Given the description of an element on the screen output the (x, y) to click on. 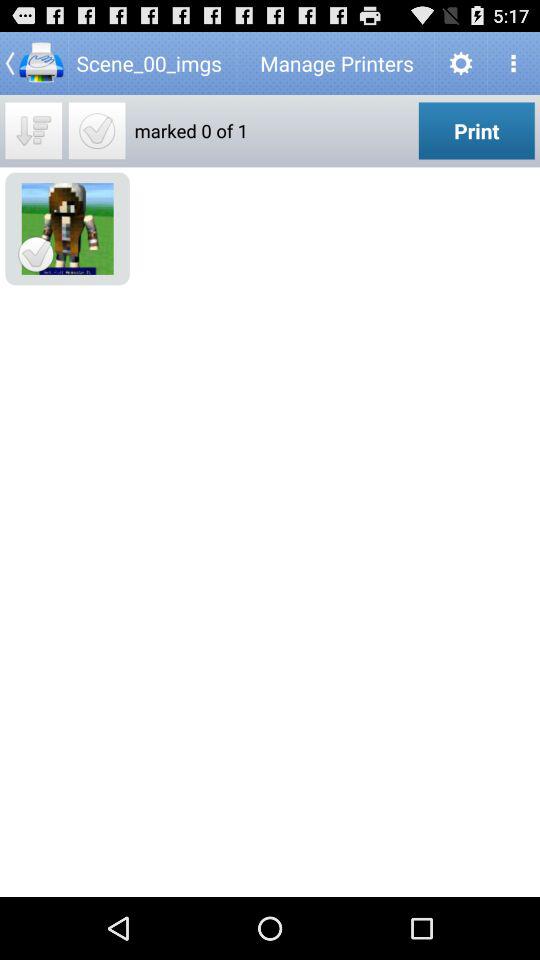
select image (96, 130)
